Given the description of an element on the screen output the (x, y) to click on. 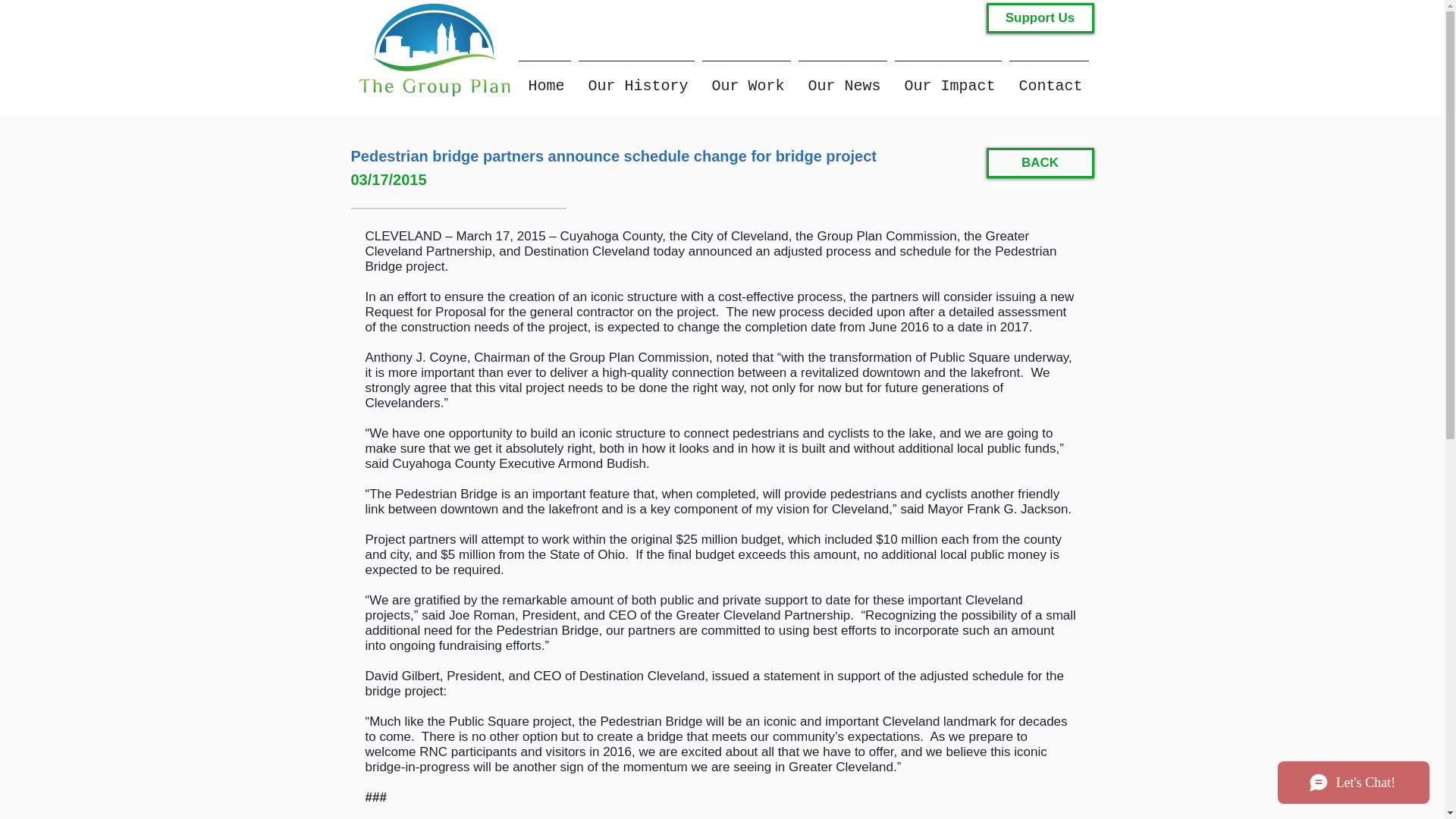
Our Impact (946, 79)
Our News (842, 79)
Contact (1049, 79)
BACK (1039, 163)
Support Us (1039, 18)
Our History (636, 79)
Our Work (745, 79)
Home (543, 79)
